Given the description of an element on the screen output the (x, y) to click on. 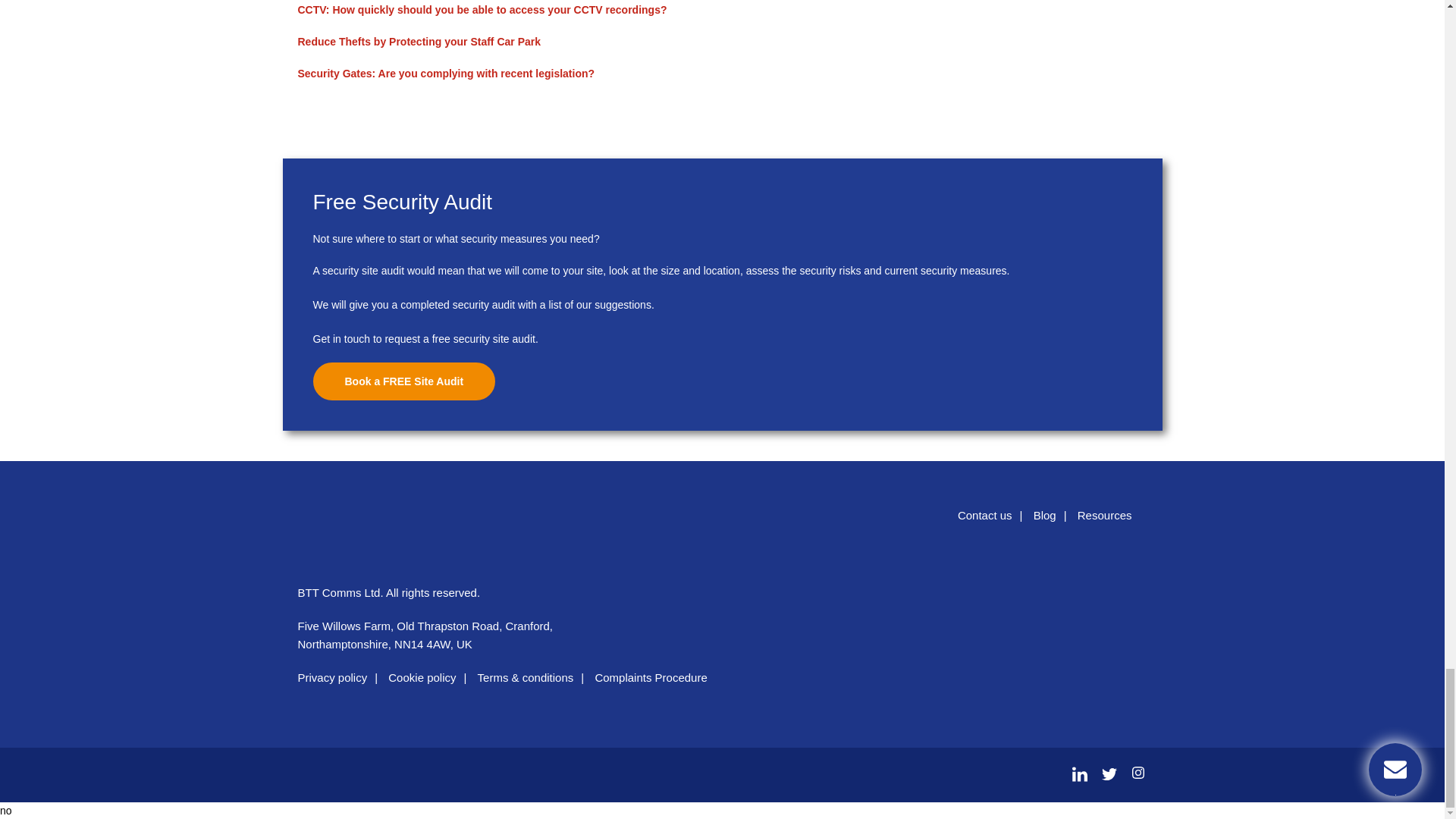
Twitter (1109, 773)
Instagram (1134, 773)
BNI (1021, 606)
Ombudsman Services (1106, 606)
LinkedIn (1079, 773)
